Given the description of an element on the screen output the (x, y) to click on. 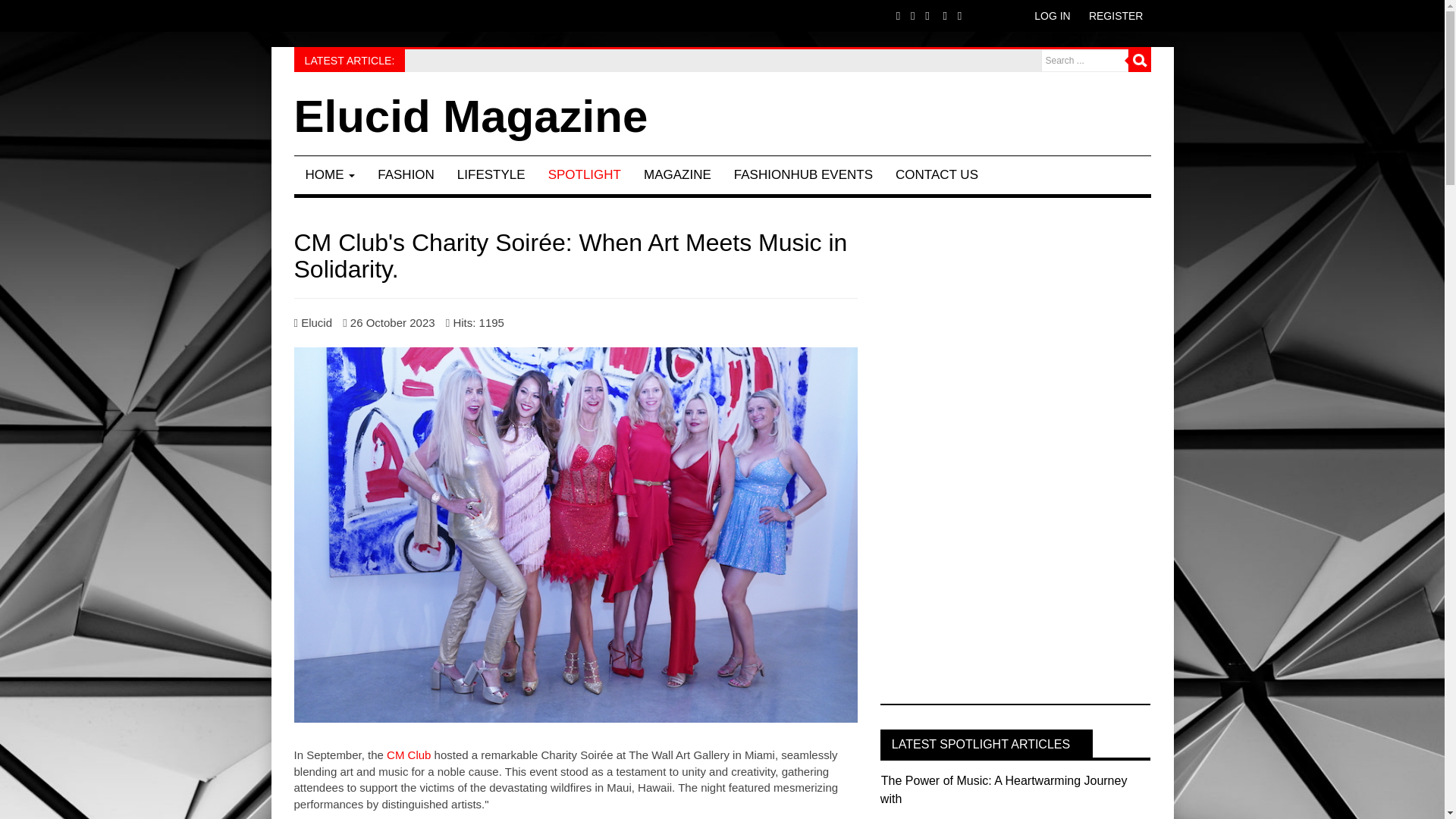
CONTACT US (936, 175)
SPOTLIGHT (584, 175)
Elucid Magazine (470, 116)
MAGAZINE (676, 175)
Page 1 (575, 775)
FASHIONHUB EVENTS (802, 175)
HOME (330, 175)
CM Club (408, 754)
FASHION (405, 175)
The Power of Music: A Heartwarming Journey with (1003, 789)
Elucid Magazine  (470, 116)
